Given the description of an element on the screen output the (x, y) to click on. 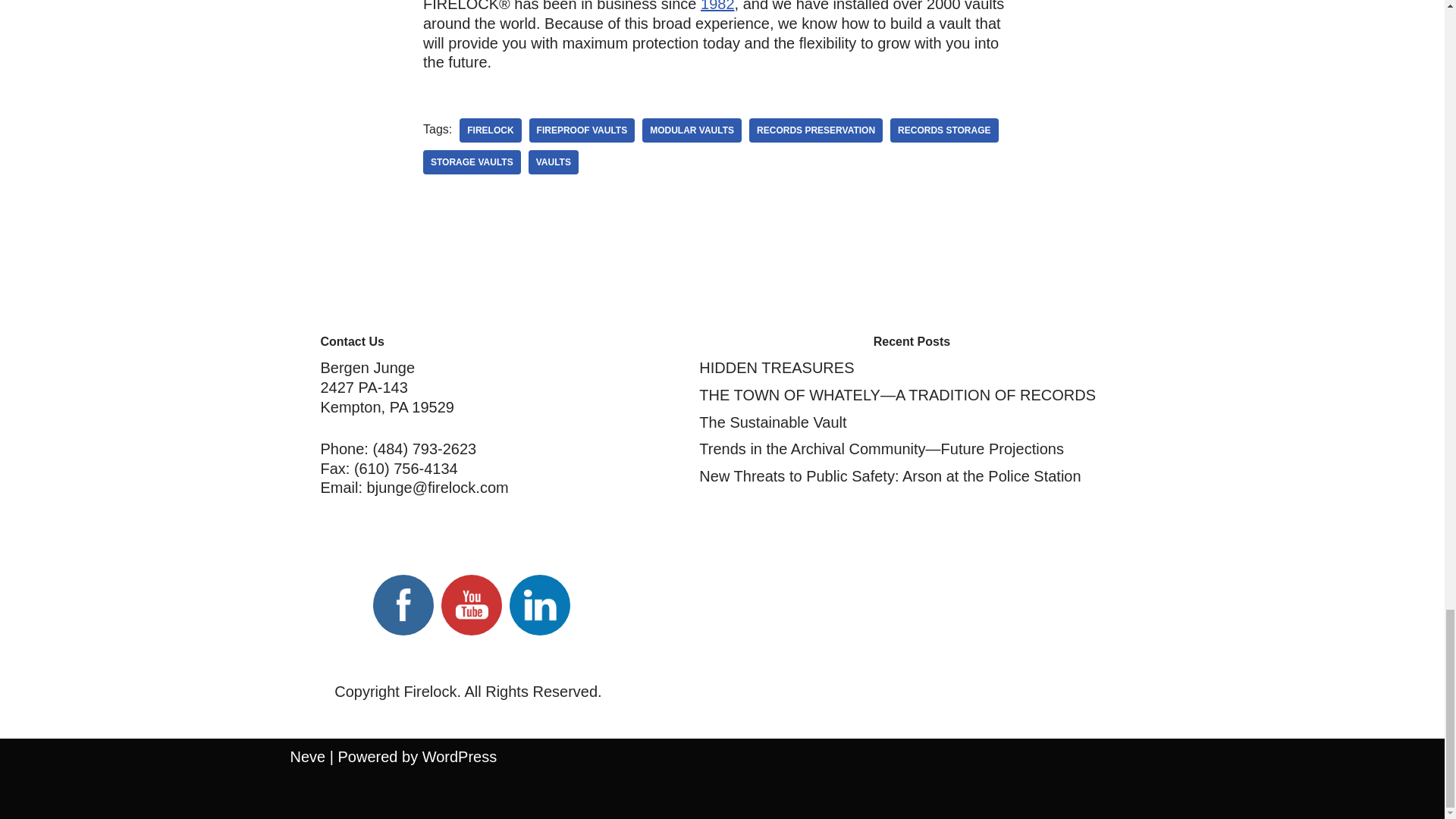
storage vaults (472, 161)
FIRELOCK (490, 129)
modular vaults (691, 129)
fireproof vaults (581, 129)
records preservation (815, 129)
Facebook (403, 604)
records storage (943, 129)
vaults (553, 161)
LinkedIn (539, 604)
